Given the description of an element on the screen output the (x, y) to click on. 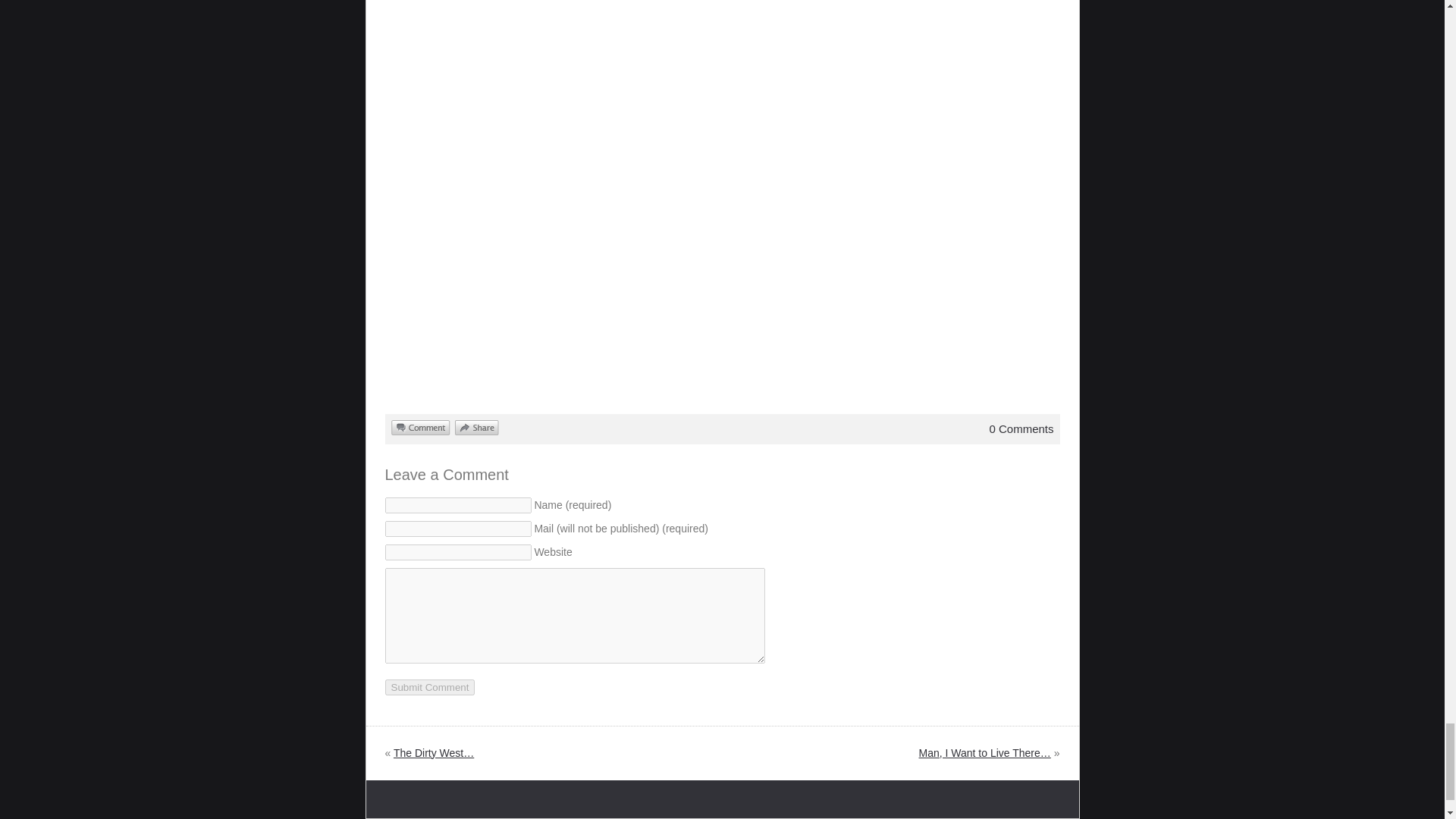
0 Comments (1020, 428)
Submit Comment (430, 686)
Submit Comment (430, 686)
